Given the description of an element on the screen output the (x, y) to click on. 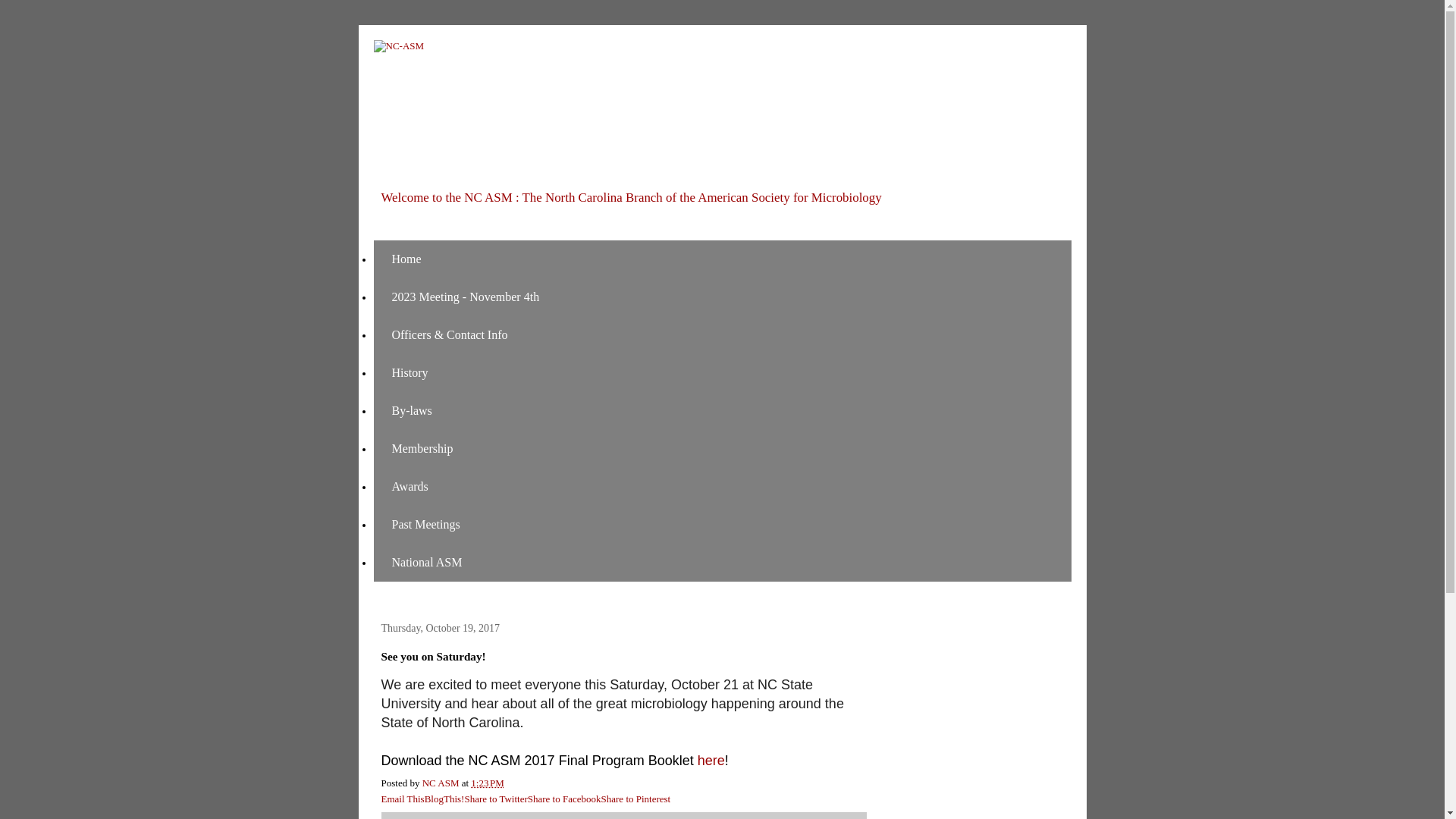
Membership (421, 448)
Awards (408, 486)
Share to Twitter (495, 798)
Home (405, 259)
By-laws (410, 410)
Share to Pinterest (636, 798)
permanent link (486, 782)
author profile (441, 782)
2023 Meeting - November 4th (464, 297)
Past Meetings (424, 524)
Email This (401, 798)
BlogThis! (444, 798)
Share to Twitter (495, 798)
Email This (401, 798)
